Given the description of an element on the screen output the (x, y) to click on. 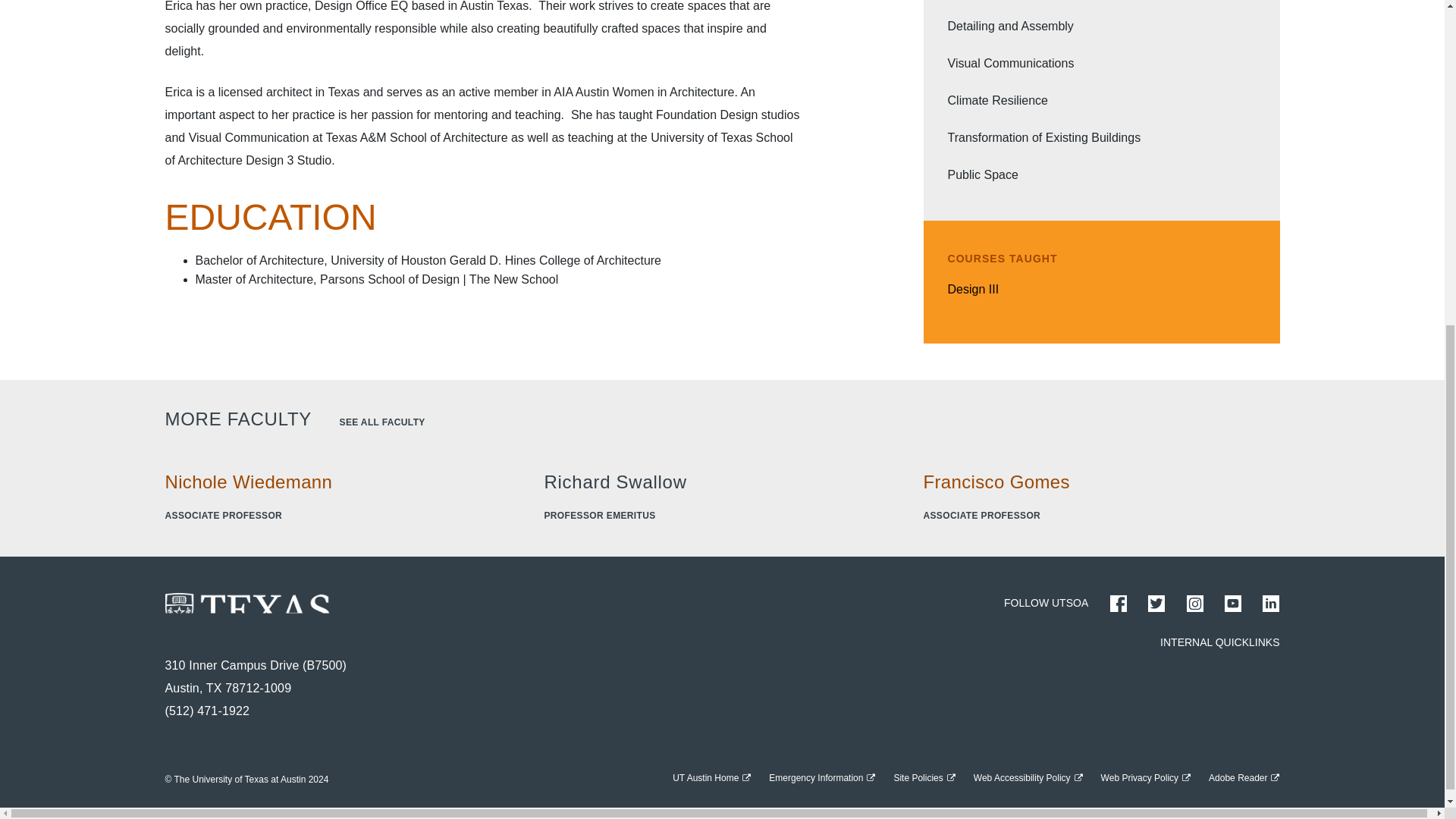
InstagramSee us on Instagram (1195, 603)
TwitterFind us on Twitter (1156, 603)
YoutubeSee us on Youtube (1232, 603)
FacebookFind us on Facebook (1117, 603)
LinkedinFind us on Linkedin (1270, 603)
